Given the description of an element on the screen output the (x, y) to click on. 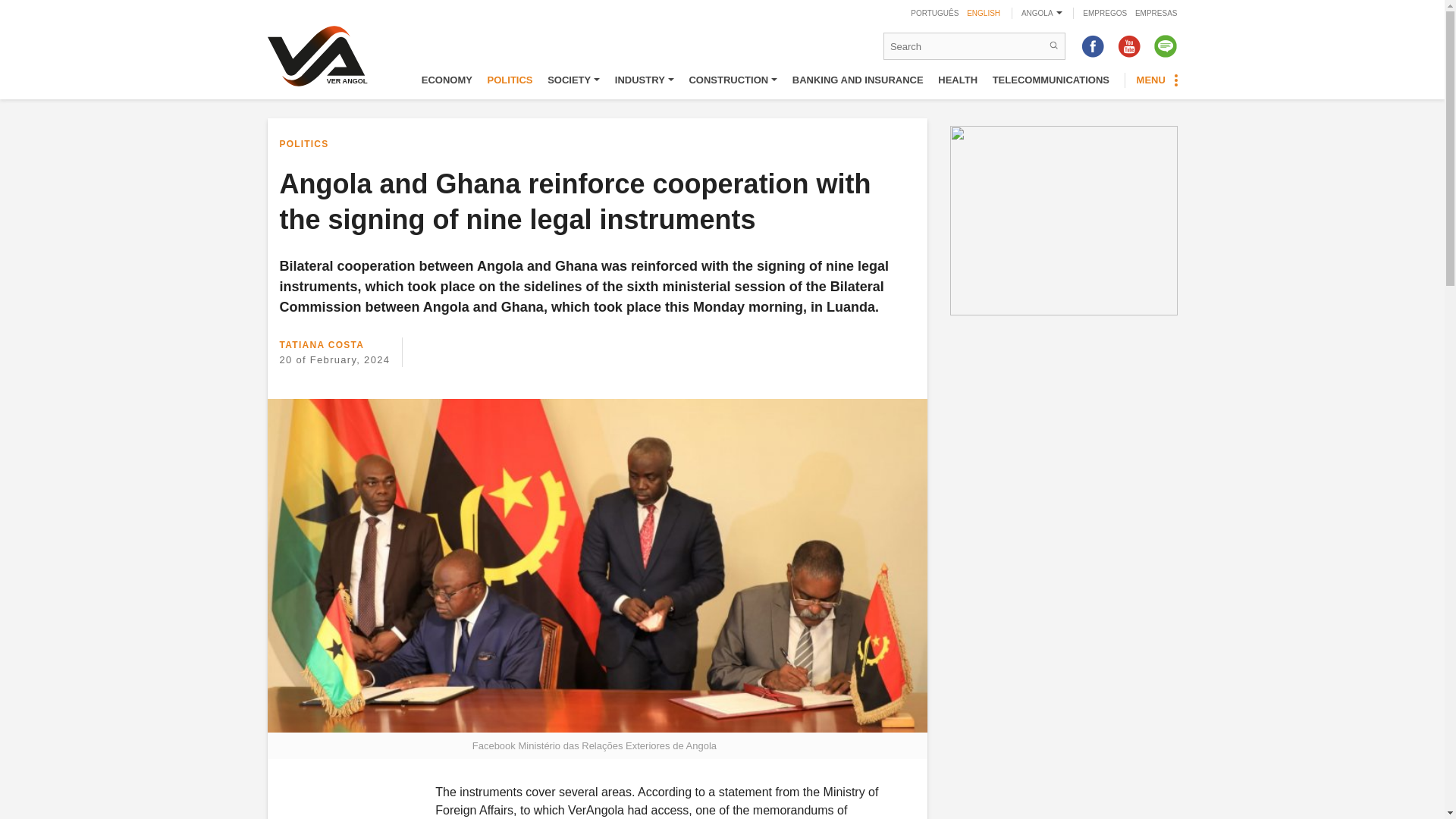
VER ANGOLA - YOUTUBE (1128, 46)
EMPREGOS (1104, 13)
BANKING AND INSURANCE (857, 79)
ANGOLA (1042, 13)
Ver Angola - Facebook (1091, 46)
Ver Angola - Daily, the best of Angola (323, 58)
VER ANGOLA - FACEBOOK (1091, 46)
TELECOMMUNICATIONS (1050, 79)
INDUSTRY (644, 79)
CONSTRUCTION (732, 79)
MENU (1150, 79)
EMPRESAS (1156, 13)
ECONOMY (446, 79)
Ver Angola - YouTube (1128, 46)
SOCIETY (573, 79)
